Given the description of an element on the screen output the (x, y) to click on. 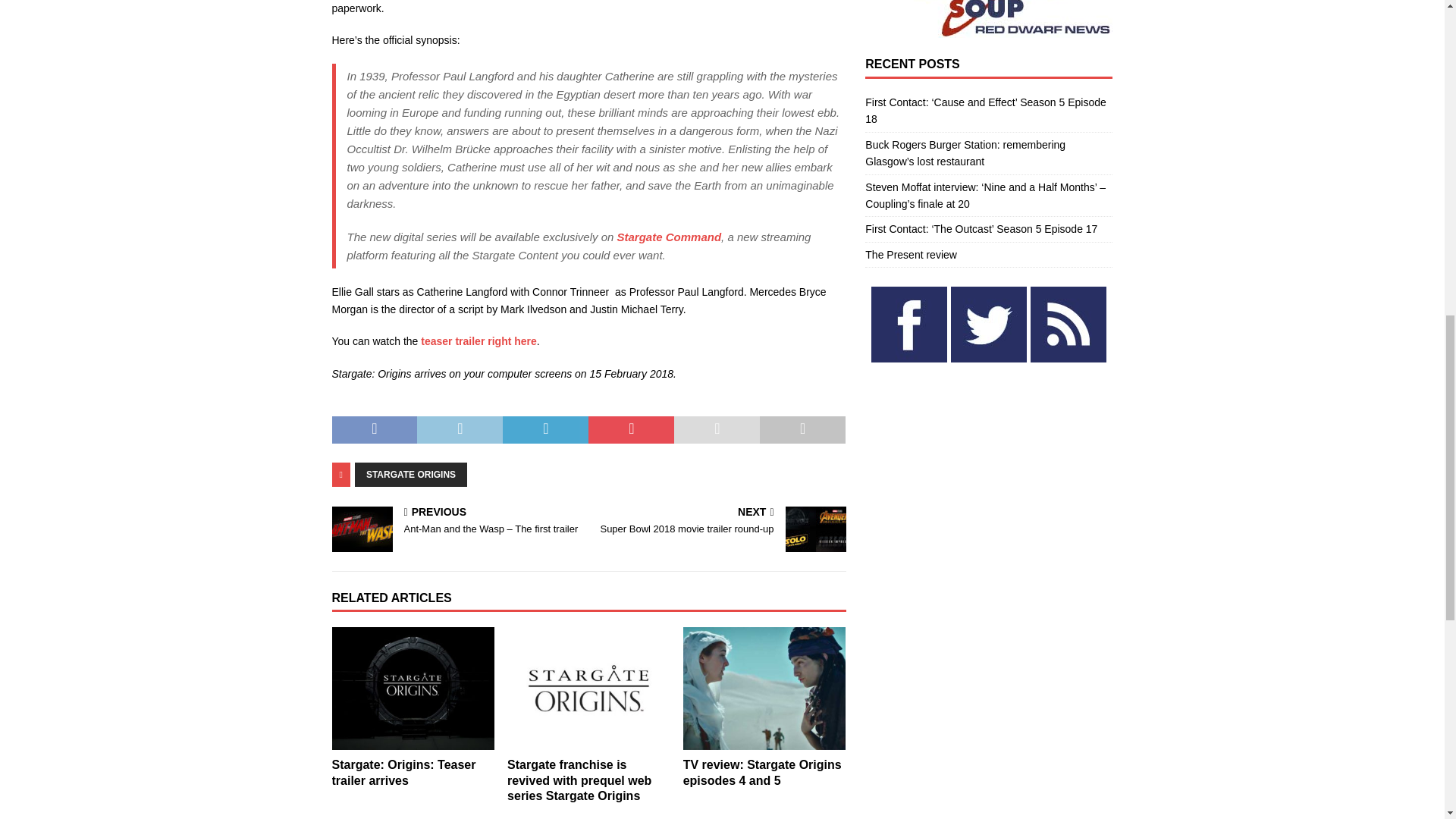
Stargate Command (669, 236)
Stargate: Origins: Teaser trailer arrives (413, 688)
Stargate: Origins: Teaser trailer arrives (403, 772)
teaser trailer right here (478, 340)
